Given the description of an element on the screen output the (x, y) to click on. 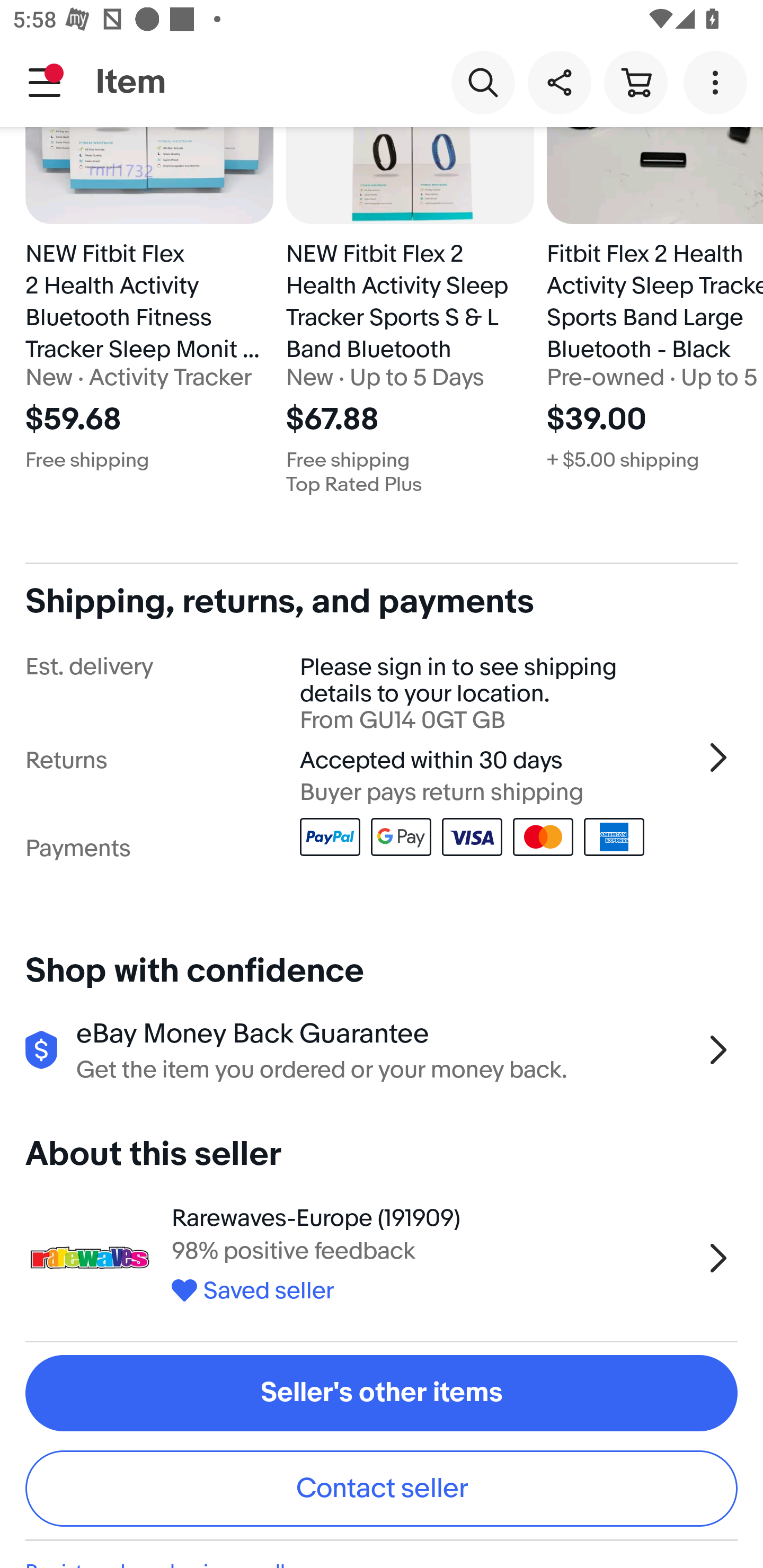
Main navigation, notification is pending, open (44, 82)
Search (482, 81)
Share this item (559, 81)
Cart button shopping cart (635, 81)
More options (718, 81)
Saved seller (431, 1286)
Seller's other items (381, 1392)
Contact seller (381, 1488)
